Given the description of an element on the screen output the (x, y) to click on. 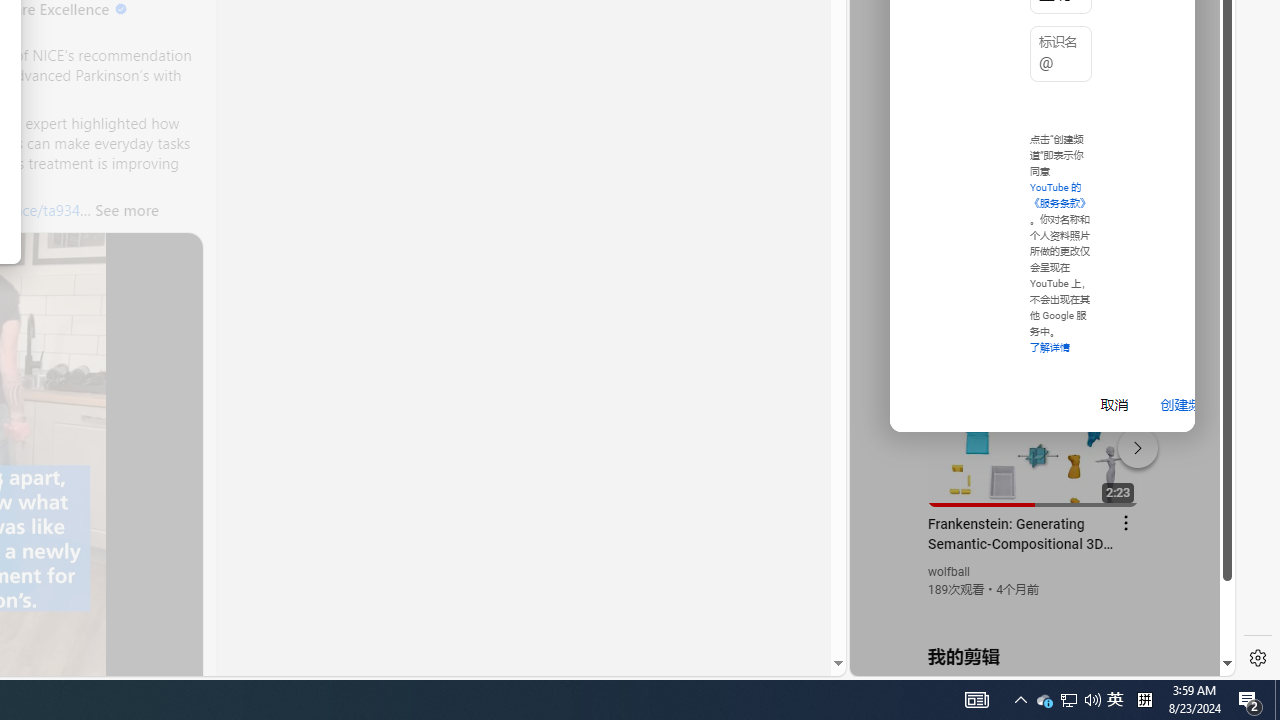
Class: dict_pnIcon rms_img (1028, 660)
US[ju] (917, 660)
you (1034, 609)
YouTube - YouTube (1034, 266)
